Given the description of an element on the screen output the (x, y) to click on. 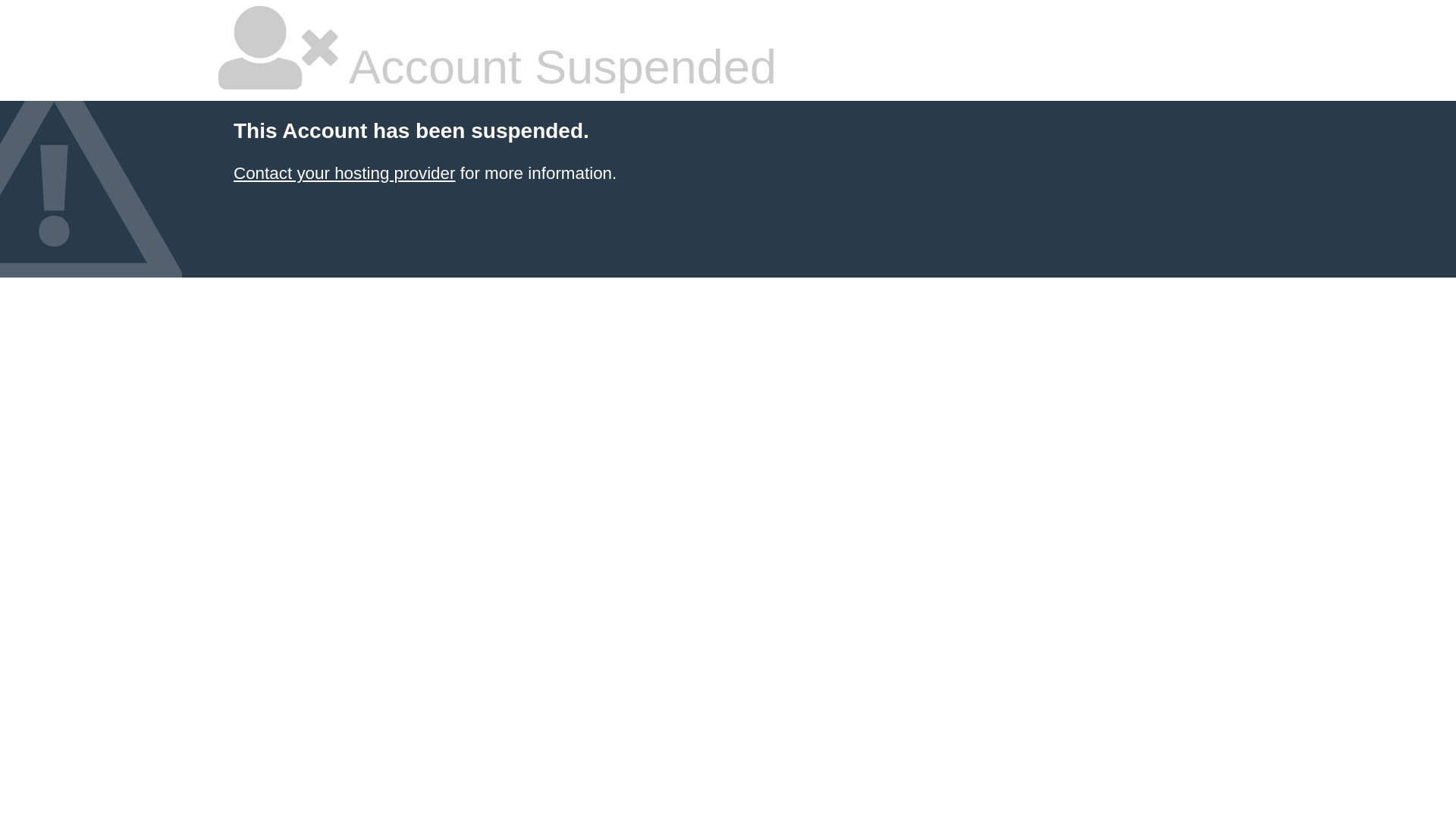
Contact your hosting provider Element type: text (344, 172)
